Given the description of an element on the screen output the (x, y) to click on. 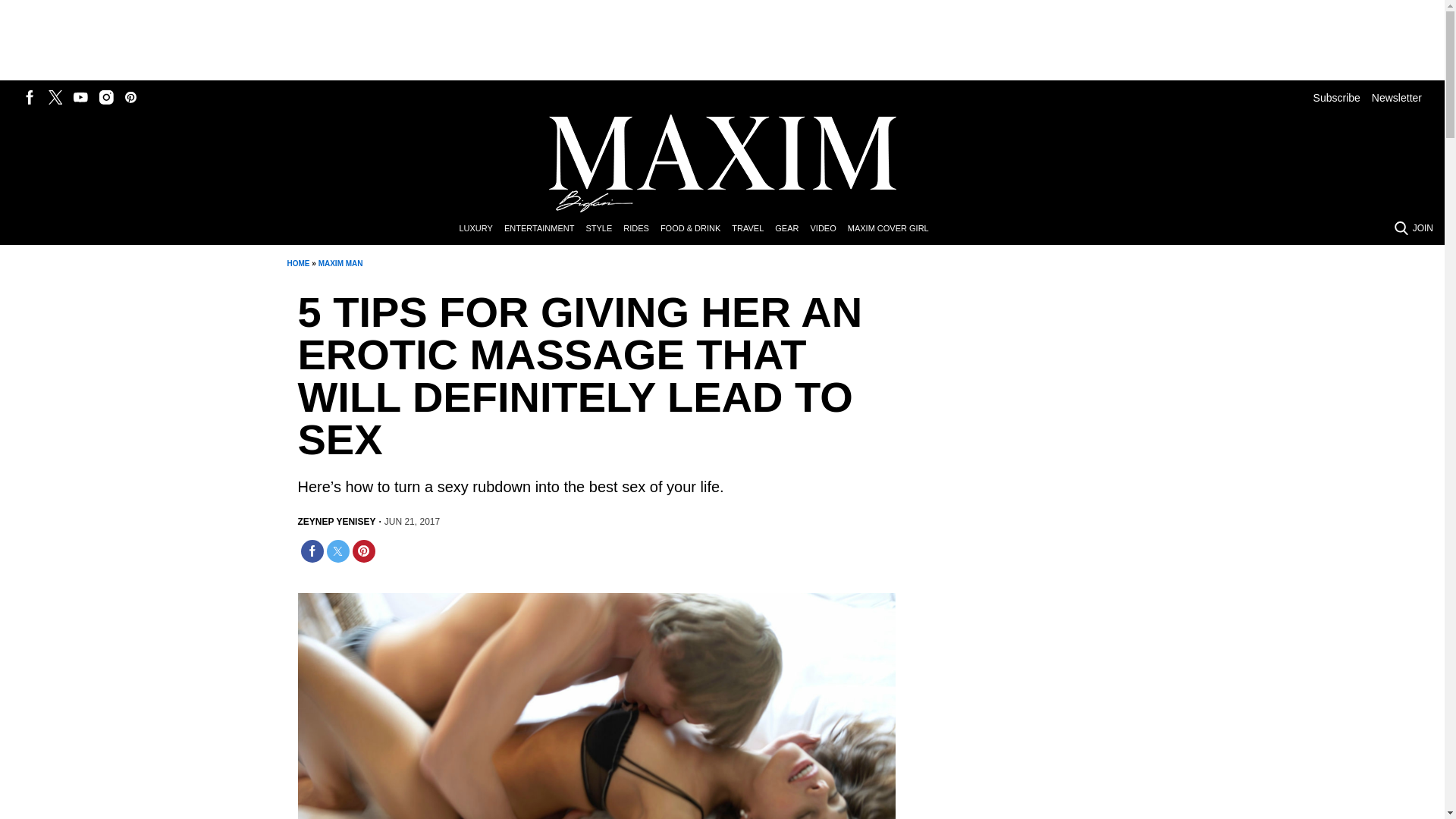
JOIN (1422, 228)
VIDEO (828, 228)
Follow us on Facebook (30, 97)
HOME (297, 263)
Posts by Zeynep Yenisey (336, 521)
LUXURY (480, 228)
Subscribe (1336, 97)
MAXIM COVER GIRL (893, 228)
ENTERTAINMENT (544, 228)
STYLE (604, 228)
